Given the description of an element on the screen output the (x, y) to click on. 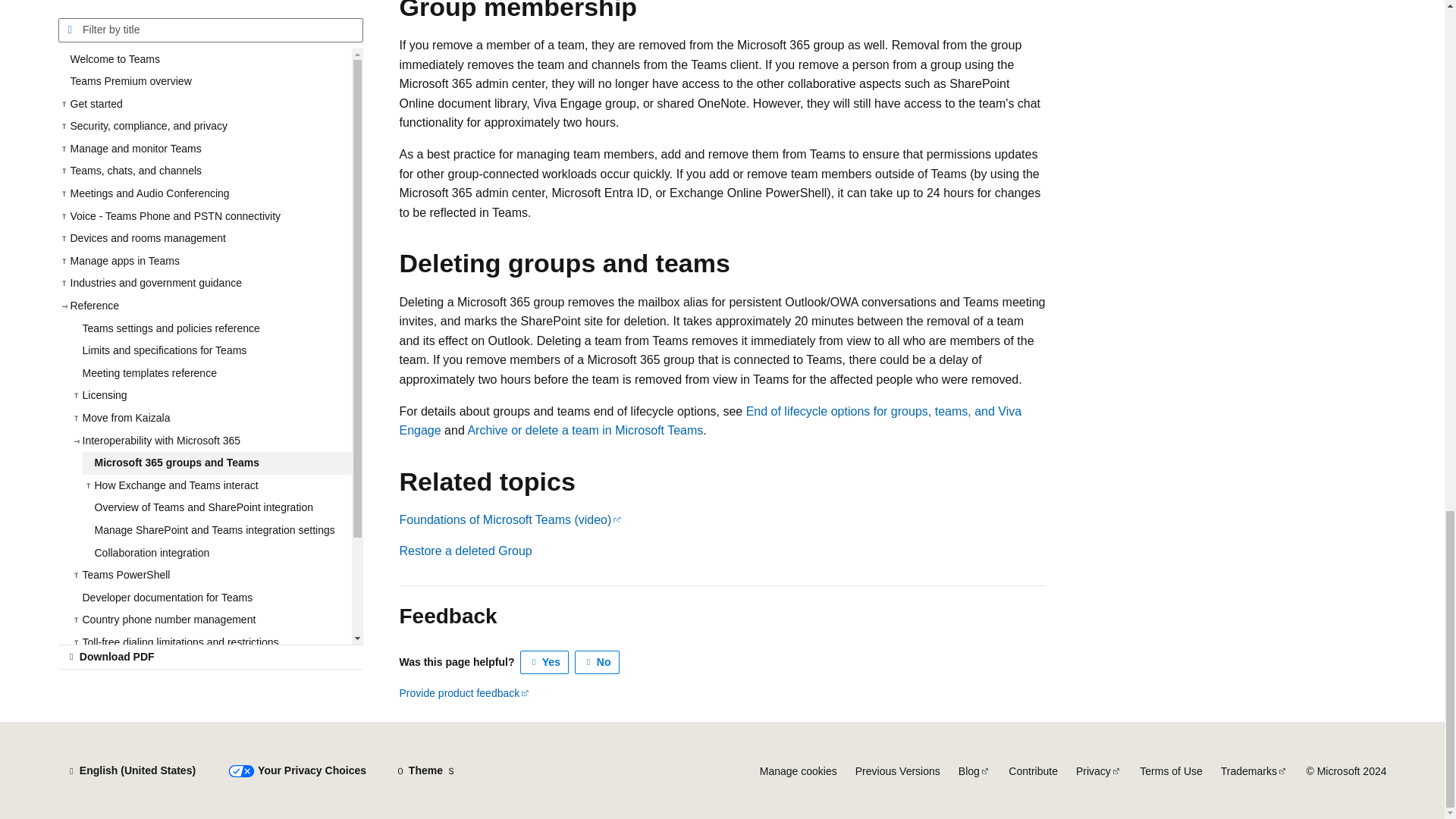
This article is not helpful (597, 662)
This article is helpful (544, 662)
Theme (425, 770)
